Given the description of an element on the screen output the (x, y) to click on. 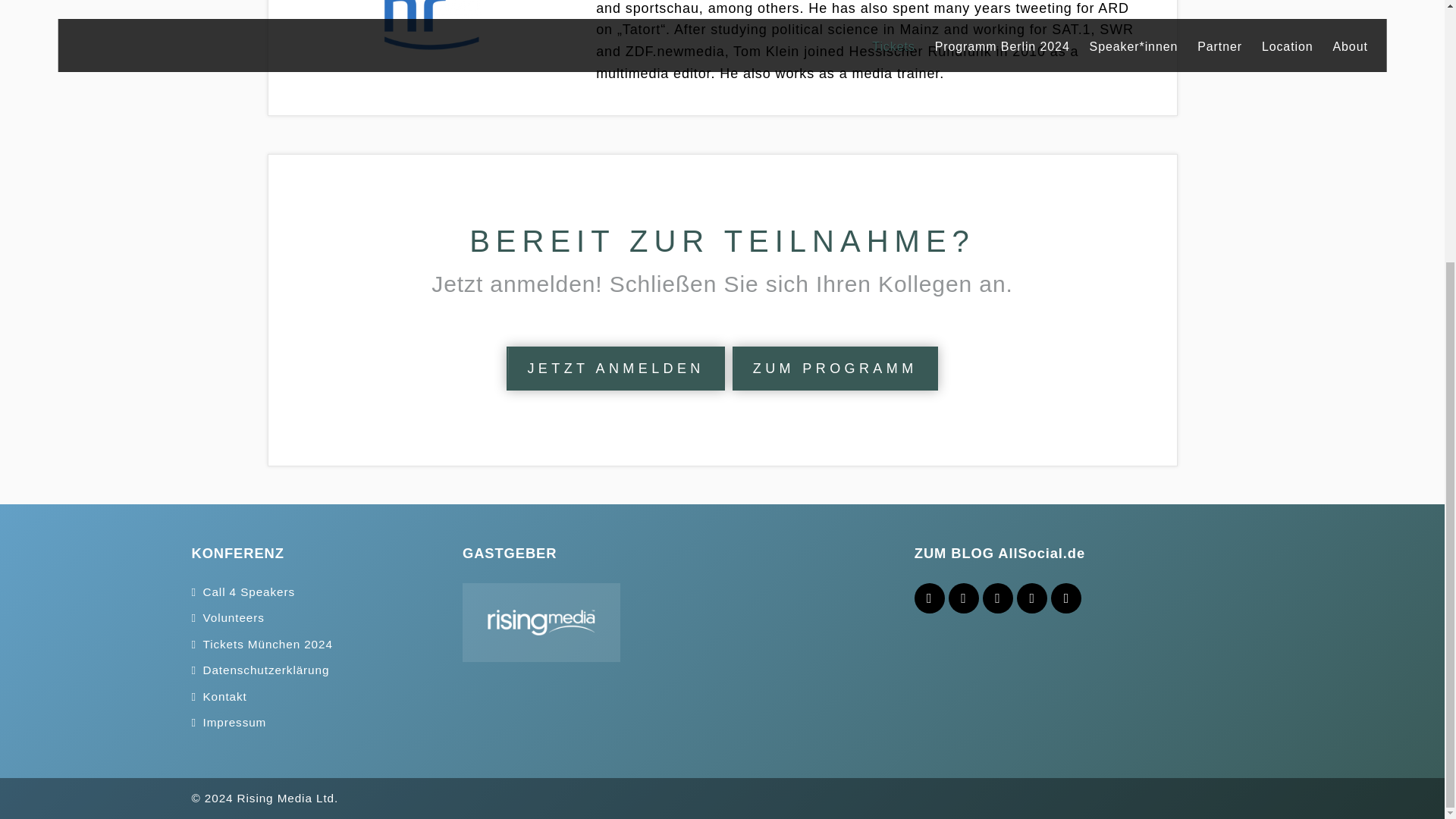
zum Programm (834, 368)
AllSocial.de (1040, 553)
Volunteers (233, 617)
ZUM PROGRAMM (834, 368)
Impressum (234, 721)
Kontakt (225, 696)
JETZT ANMELDEN (614, 368)
Call 4 Speakers (249, 591)
Jetzt Anmelden (614, 368)
